Given the description of an element on the screen output the (x, y) to click on. 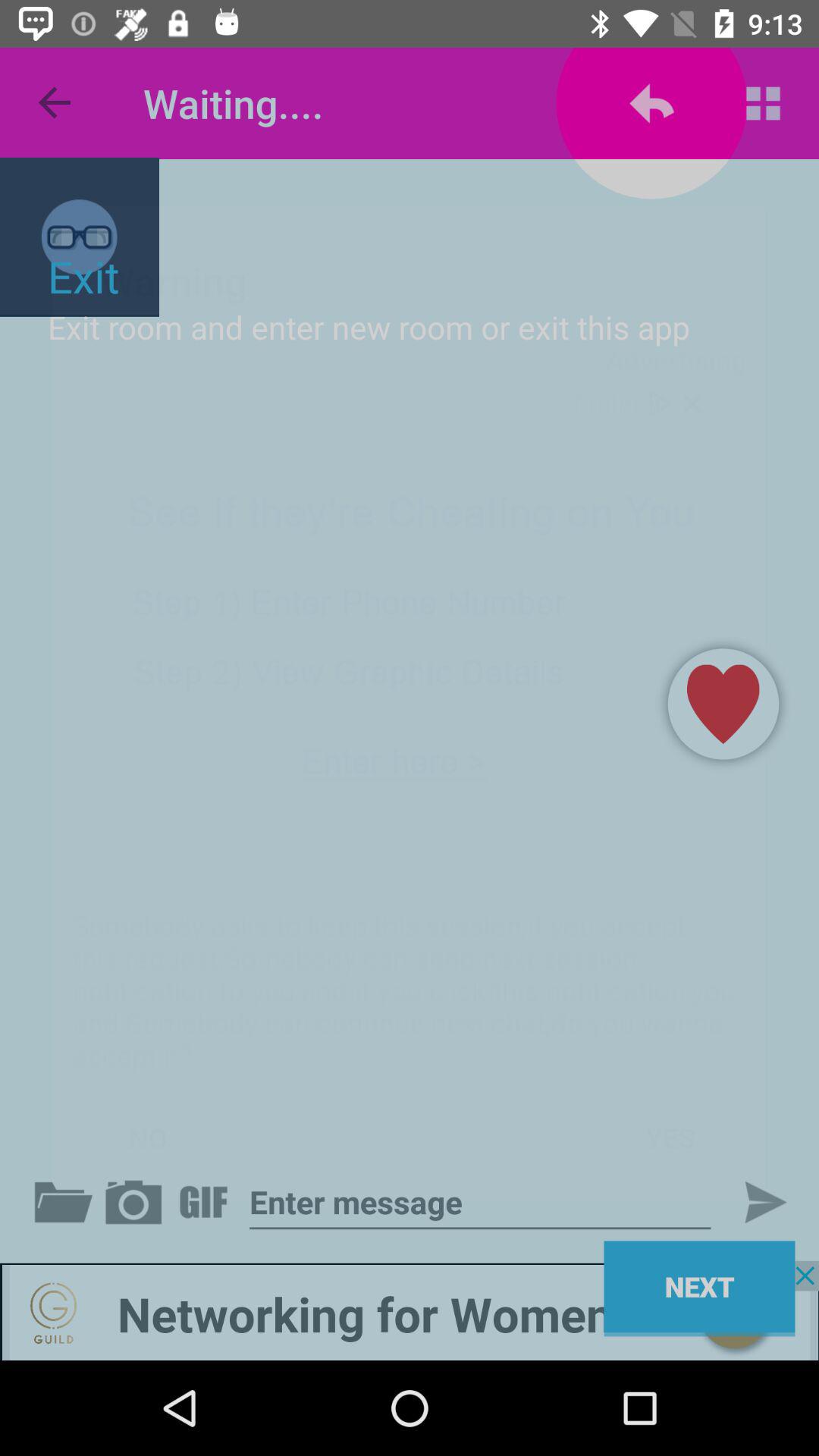
go to text (479, 1202)
